Given the description of an element on the screen output the (x, y) to click on. 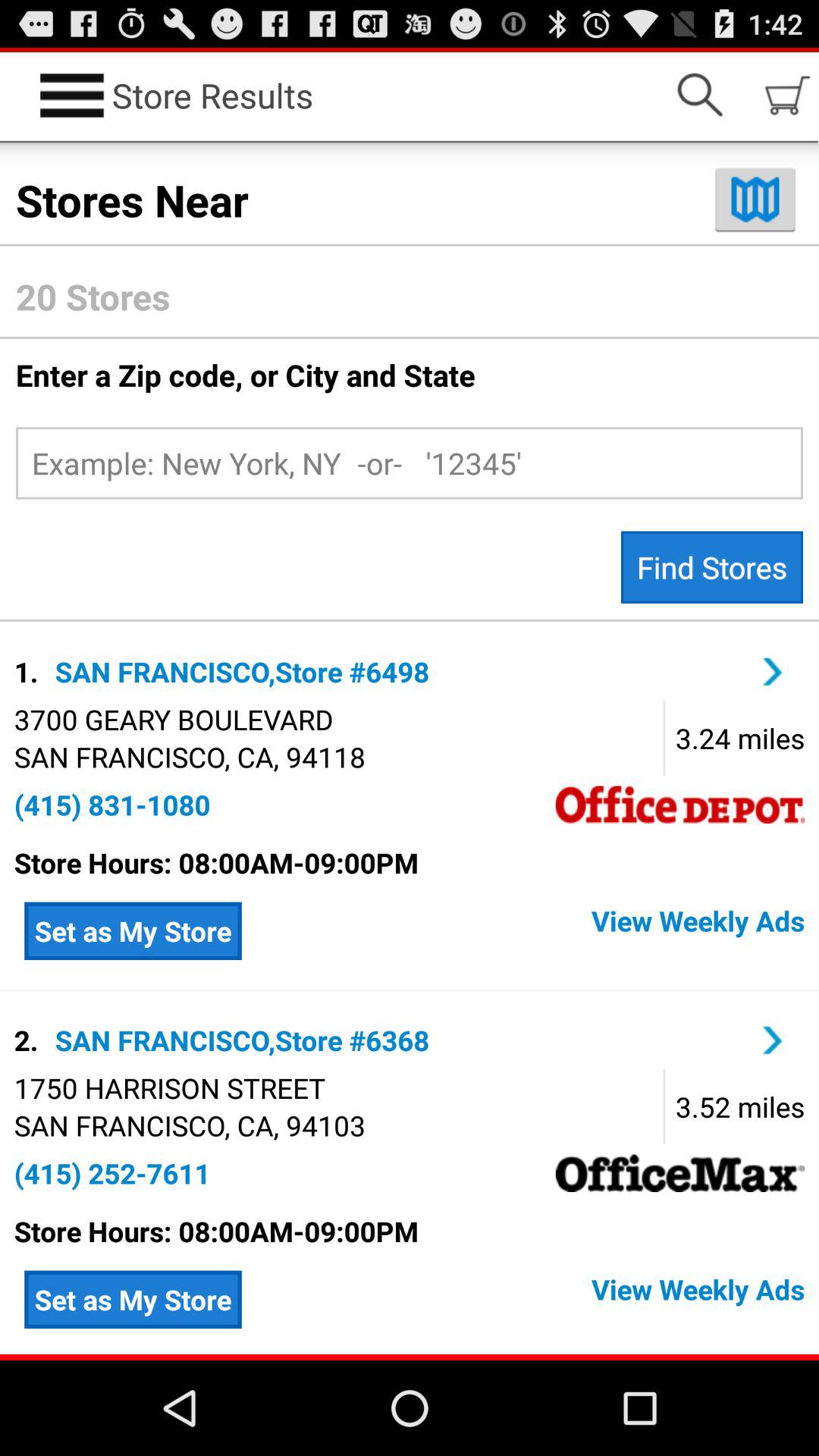
turn off icon below the 1.  app (173, 719)
